Given the description of an element on the screen output the (x, y) to click on. 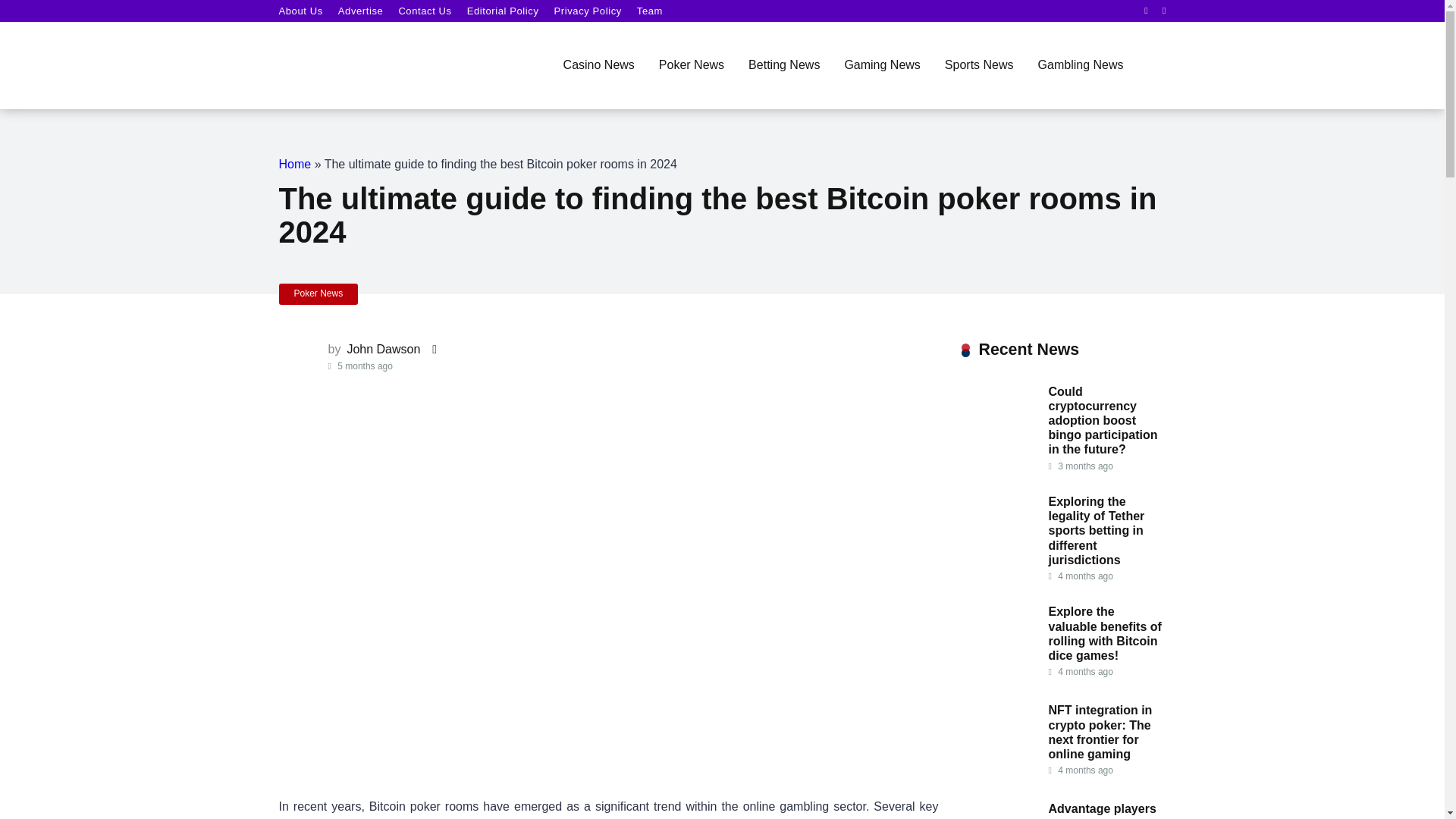
Posts by John Dawson (380, 348)
Poker News.World (328, 55)
Gaming News (881, 66)
About Us (301, 10)
Poker News (691, 66)
Sports News (979, 66)
Privacy Policy (587, 10)
Home (295, 164)
Contact Us (424, 10)
Poker News (318, 293)
